Given the description of an element on the screen output the (x, y) to click on. 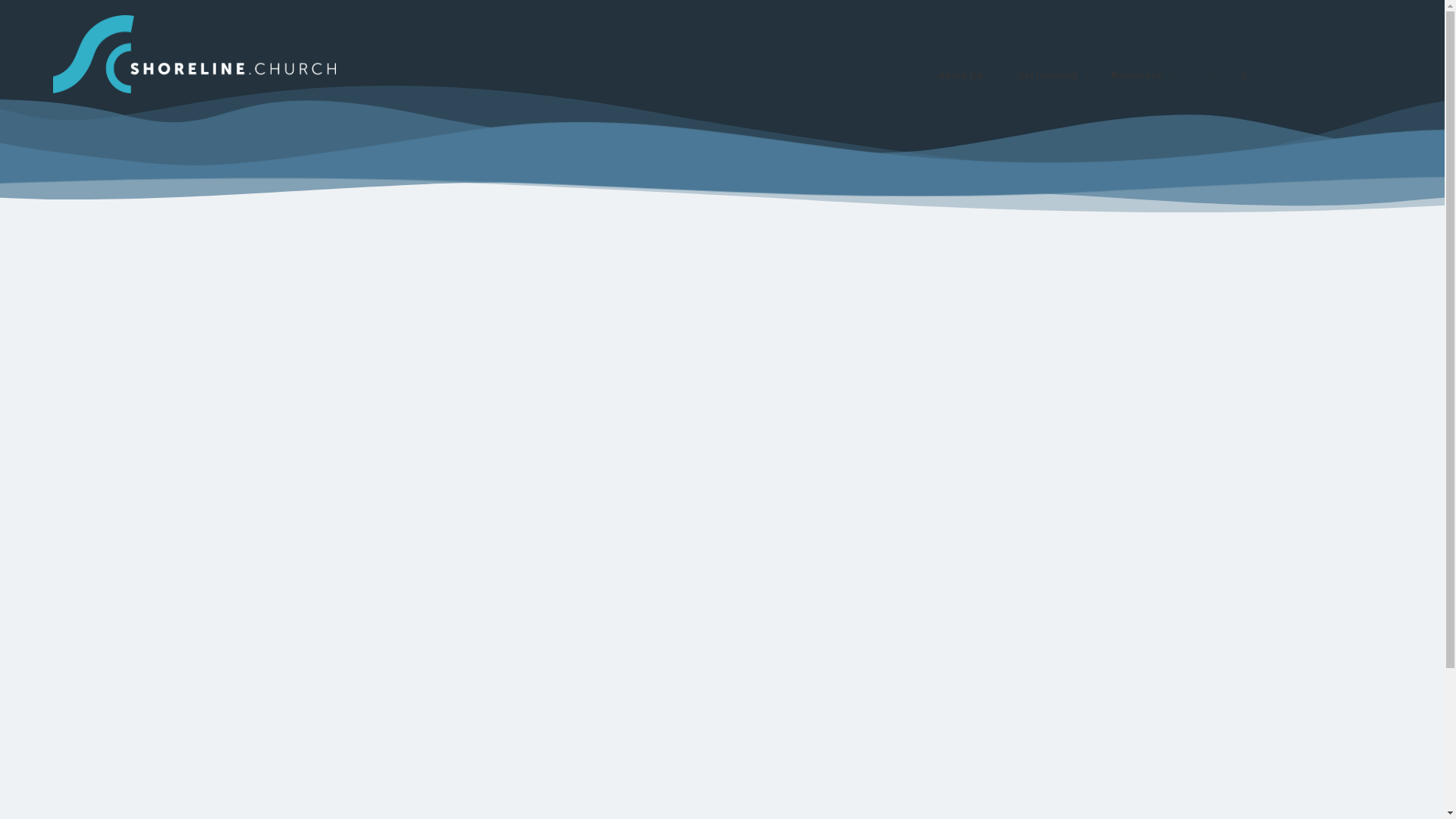
About Us (962, 75)
Get Involved (1048, 75)
Facebook (1094, 75)
Search (1191, 74)
Instagram (1243, 74)
